Given the description of an element on the screen output the (x, y) to click on. 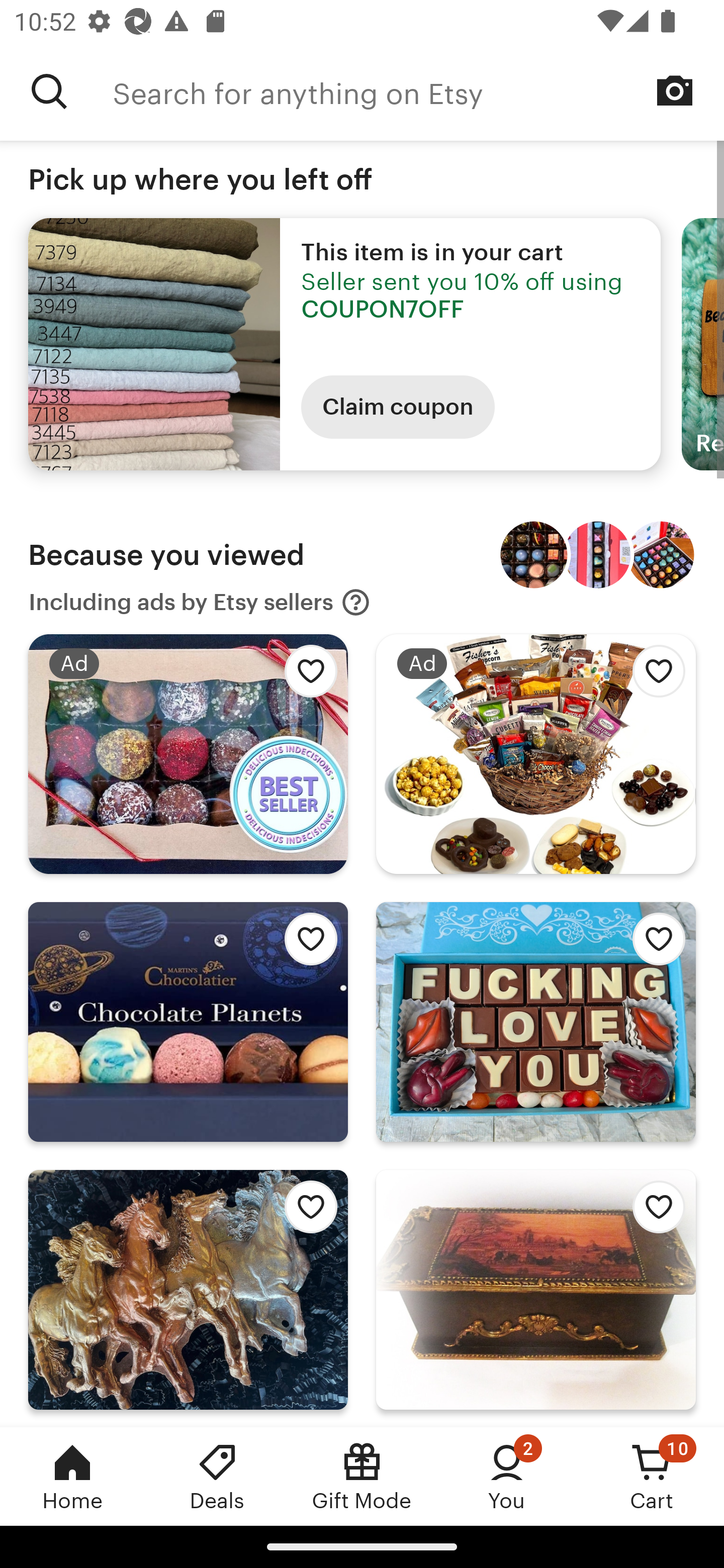
Search for anything on Etsy (49, 91)
Search by image (674, 90)
Search for anything on Etsy (418, 91)
Claim coupon (397, 407)
Including ads by Etsy sellers (199, 601)
Deals (216, 1475)
Gift Mode (361, 1475)
You, 2 new notifications You (506, 1475)
Cart, 10 new notifications Cart (651, 1475)
